Given the description of an element on the screen output the (x, y) to click on. 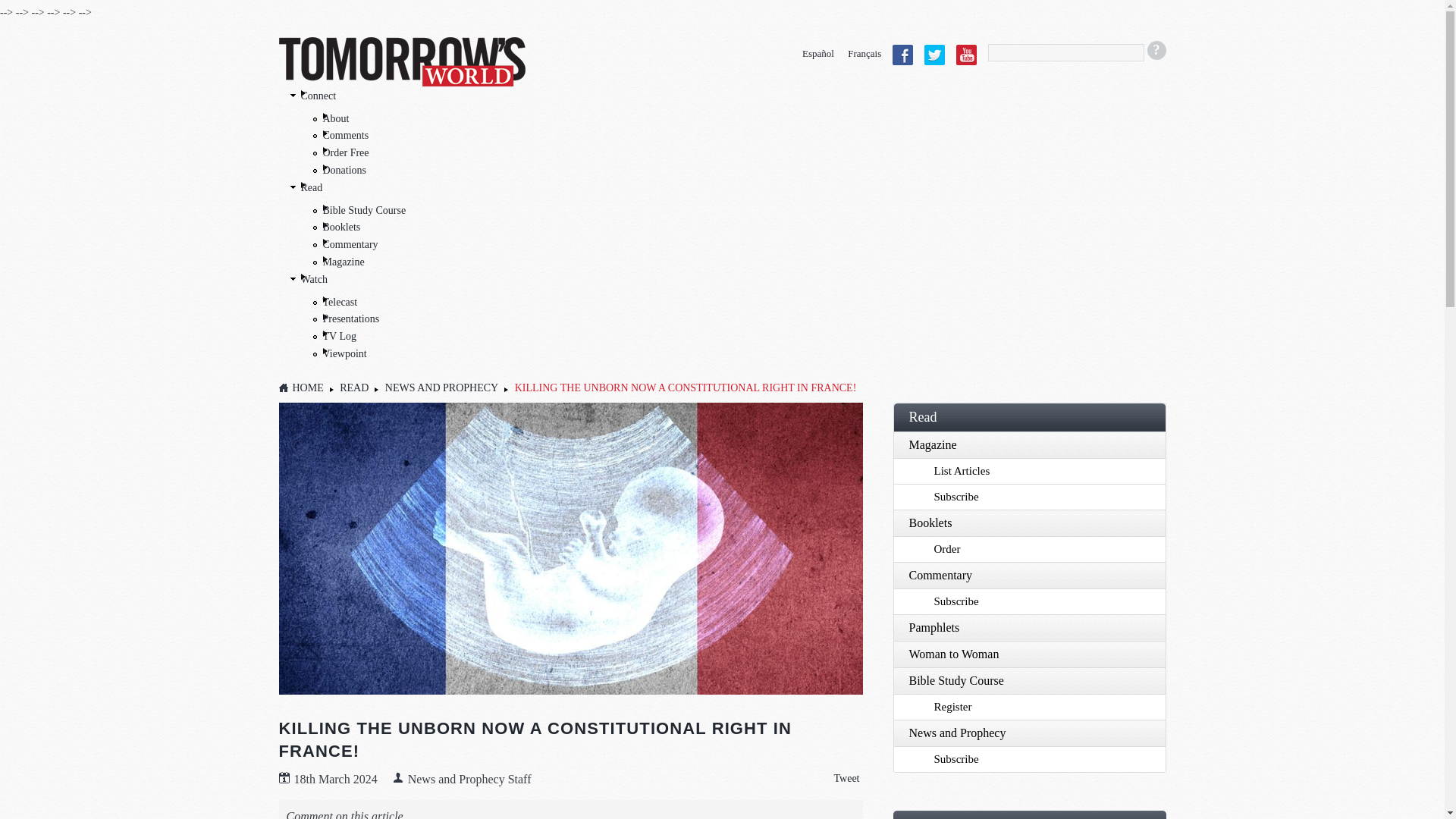
Viewpoint (344, 353)
Commentary (350, 244)
Telecast (340, 301)
NEWS AND PROPHECY (441, 387)
Commentary (1028, 574)
Booklets (1028, 522)
Read (1028, 416)
READ (353, 387)
Booklets (342, 226)
About (336, 118)
